Given the description of an element on the screen output the (x, y) to click on. 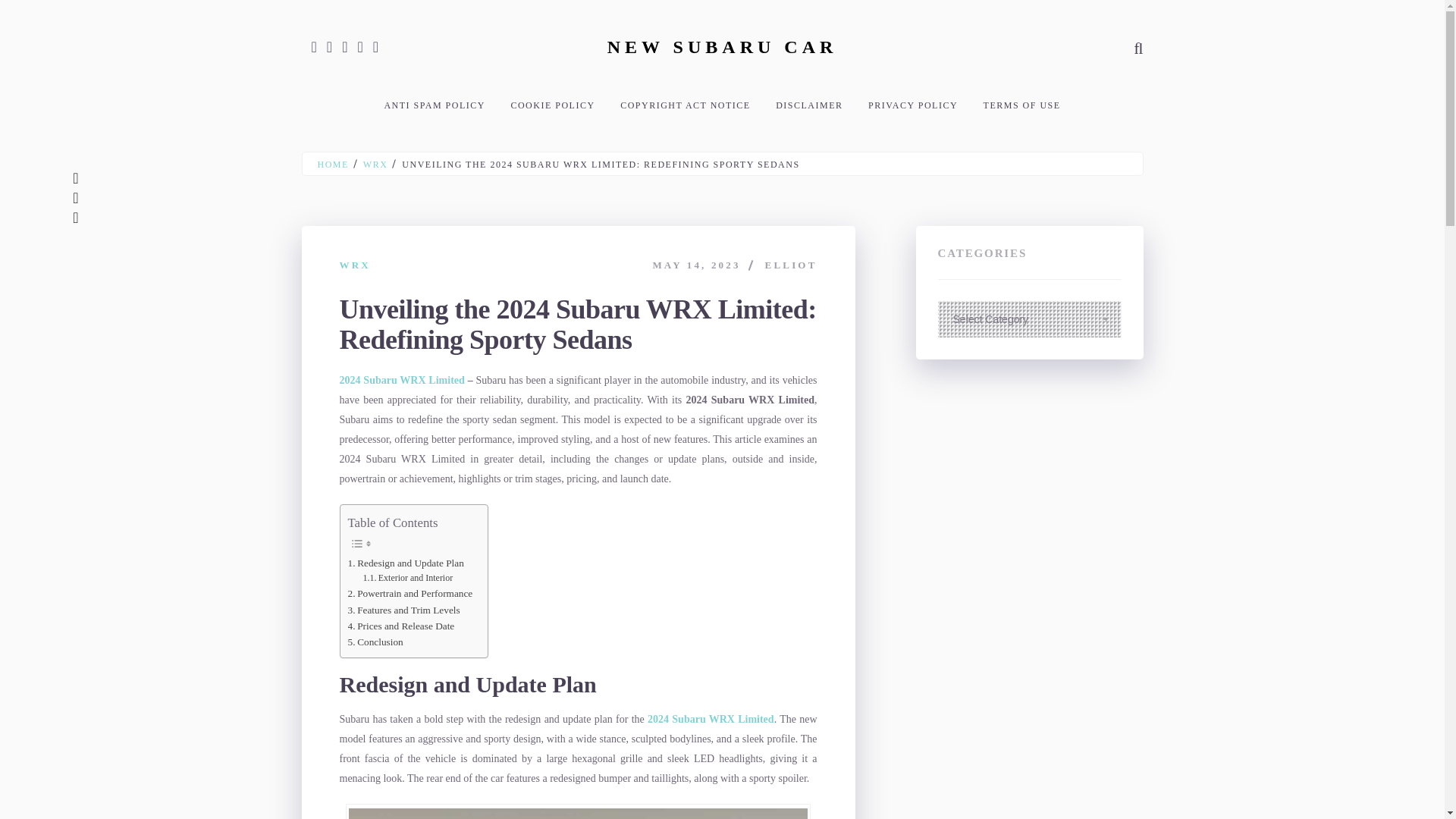
Exterior and Interior (407, 577)
PRIVACY POLICY (912, 104)
COPYRIGHT ACT NOTICE (685, 104)
ANTI SPAM POLICY (434, 104)
Features and Trim Levels (403, 609)
Powertrain and Performance (409, 593)
Conclusion (375, 641)
HOME (332, 163)
TERMS OF USE (1022, 104)
NEW SUBARU CAR (722, 46)
Redesign and Update Plan (405, 562)
WRX (375, 163)
DISCLAIMER (809, 104)
Prices and Release Date (400, 625)
Exterior and Interior (407, 577)
